Given the description of an element on the screen output the (x, y) to click on. 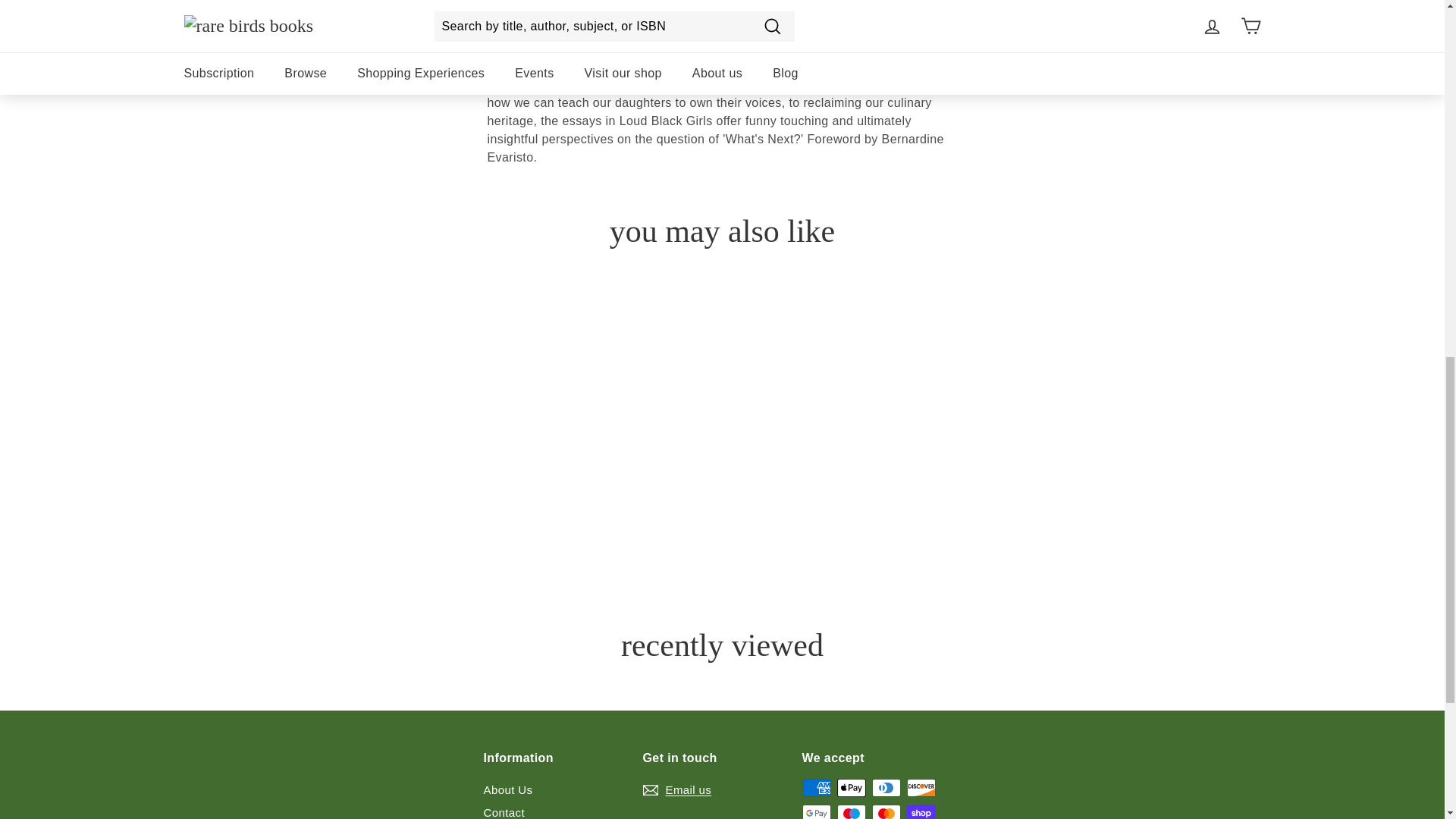
American Express (816, 787)
Shop Pay (921, 811)
Maestro (851, 811)
Apple Pay (851, 787)
Mastercard (886, 811)
Diners Club (886, 787)
Google Pay (816, 811)
Discover (921, 787)
